Given the description of an element on the screen output the (x, y) to click on. 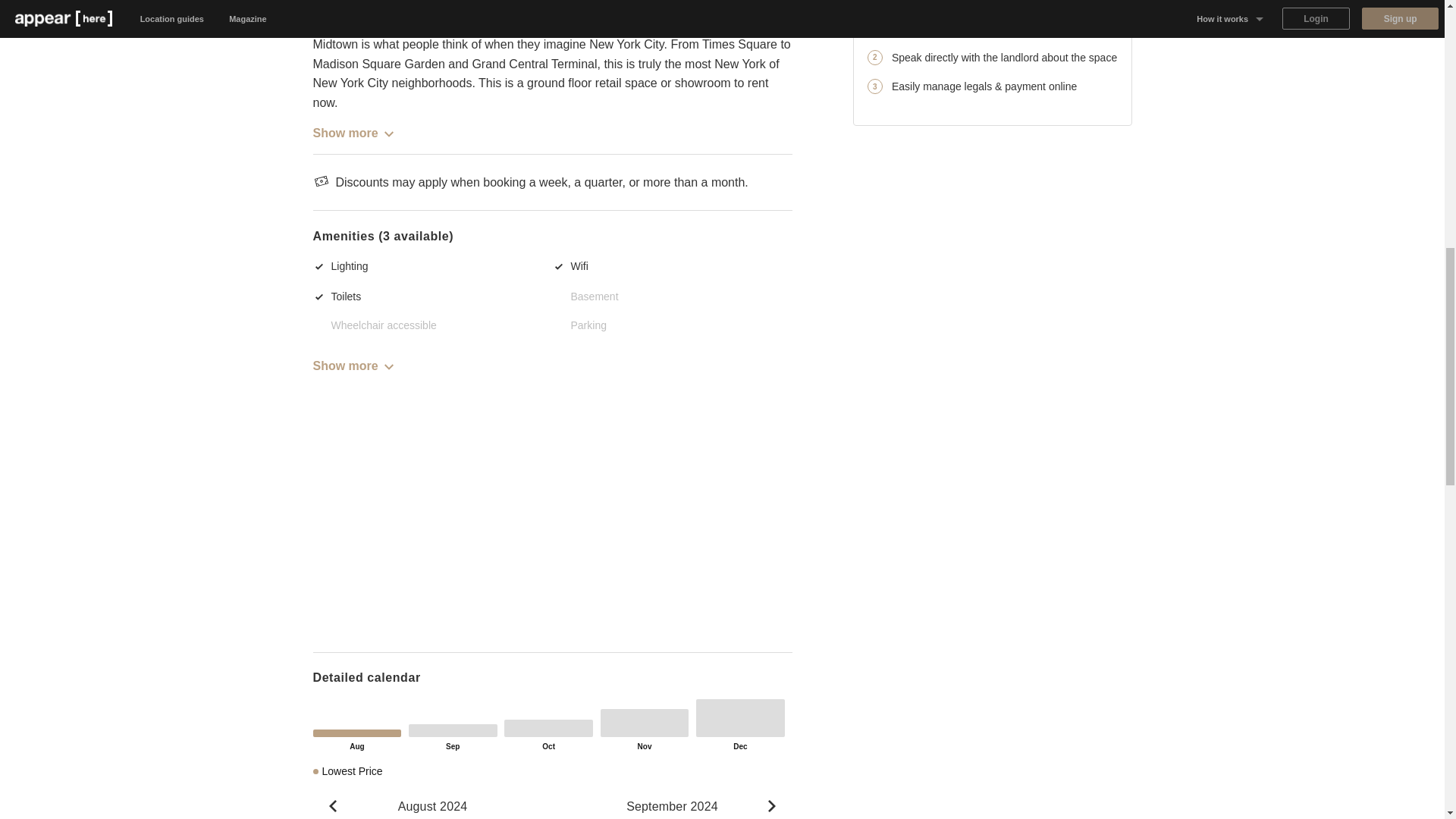
Dec (739, 718)
Aug (357, 733)
Nov (643, 723)
Sep (453, 730)
Oct (547, 728)
Chevron-up (388, 133)
Chevron-up (332, 806)
Chevron-up (771, 806)
Chevron-up (388, 366)
